Given the description of an element on the screen output the (x, y) to click on. 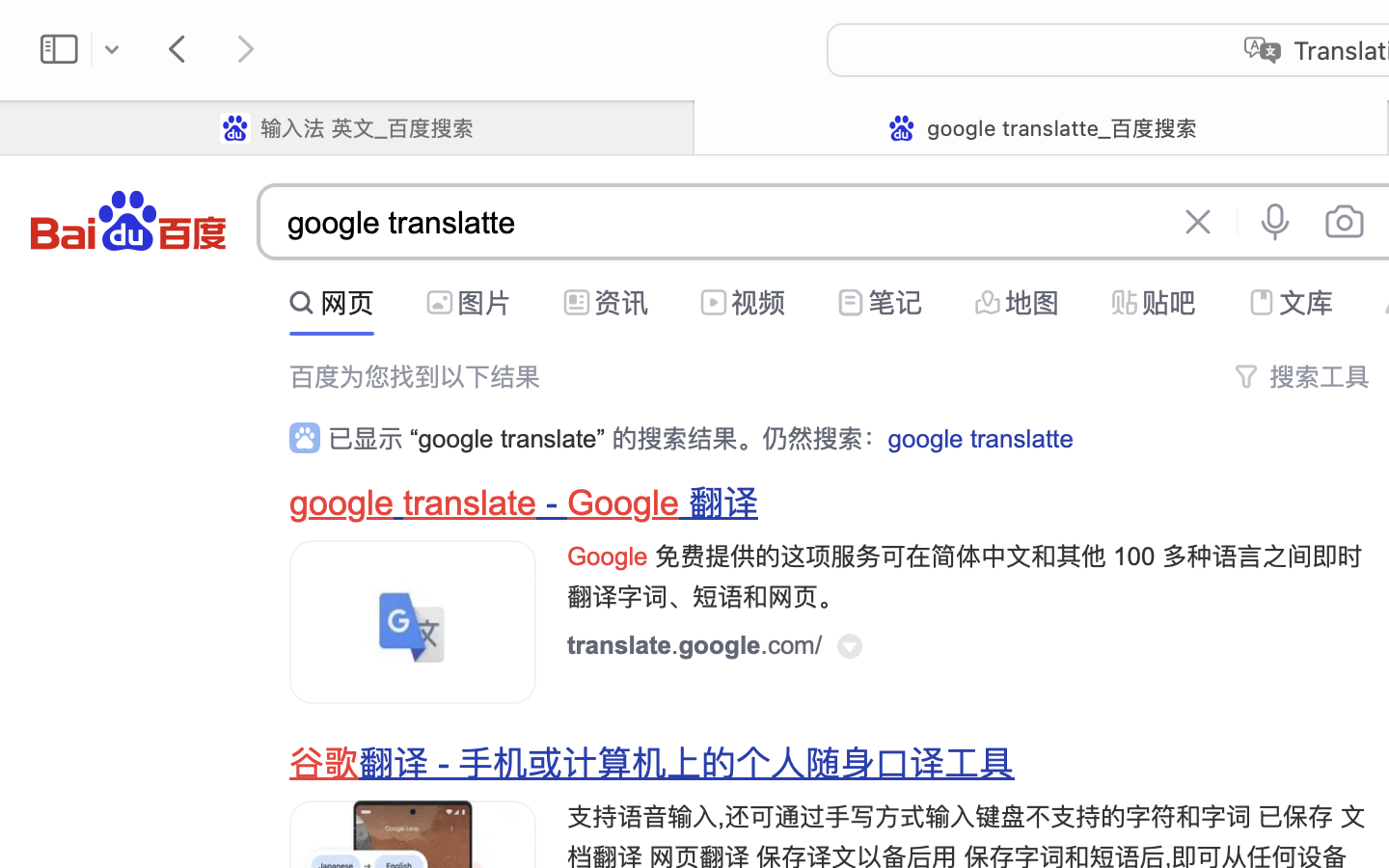
地图 Element type: AXStaticText (1032, 302)
 Element type: AXStaticText (987, 302)
谷歌 Element type: AXStaticText (323, 763)
搜索工具 Element type: AXStaticText (1319, 376)
 Element type: AXStaticText (713, 302)
